Given the description of an element on the screen output the (x, y) to click on. 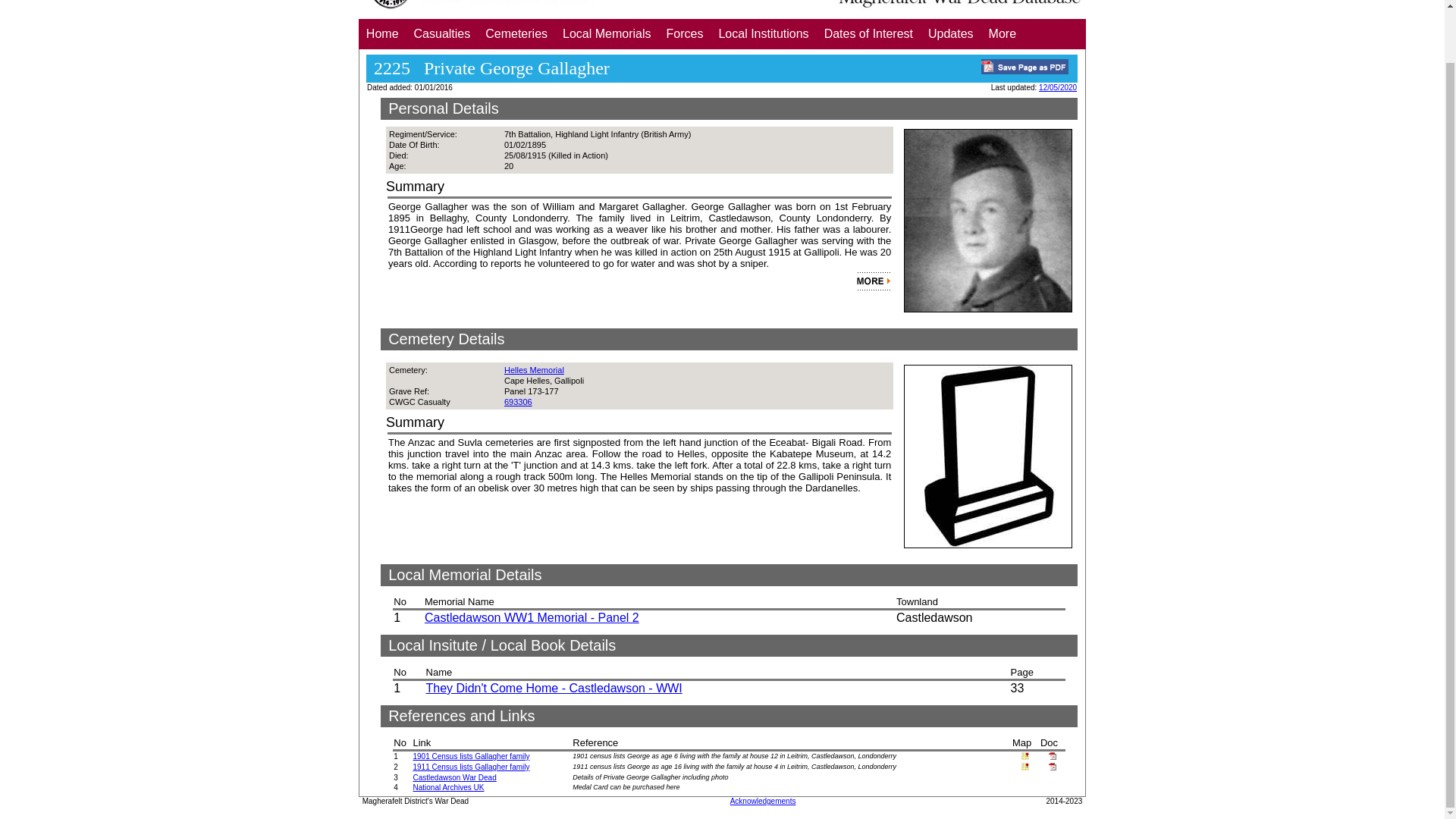
Local Institutions (762, 33)
Dates of Interest (868, 33)
Home (382, 33)
Casualties (442, 33)
Leitrim, Castledawson (1025, 767)
Updates (950, 33)
Local Memorials (606, 33)
Leitrim, Castledawson (1025, 756)
Cemeteries (515, 33)
